Given the description of an element on the screen output the (x, y) to click on. 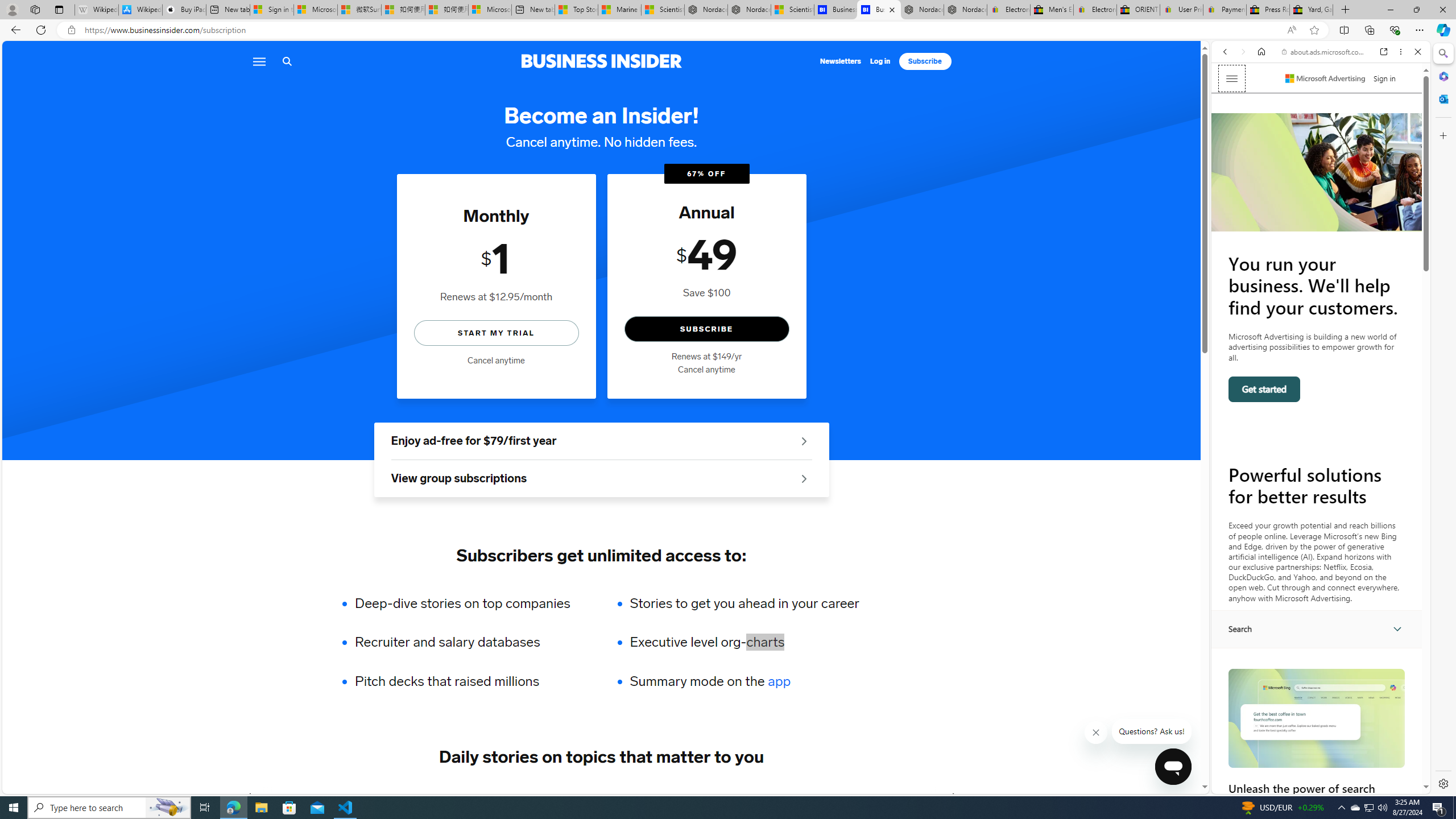
Class: sc-1uf0igr-1 fjHZYk (1096, 732)
Recruiter and salary databases (470, 642)
app (778, 681)
See group offers (803, 478)
Executive level org-charts (743, 642)
Stories to get you ahead in your career (743, 602)
View group subscriptions (601, 478)
ADVERTISING (349, 796)
